Given the description of an element on the screen output the (x, y) to click on. 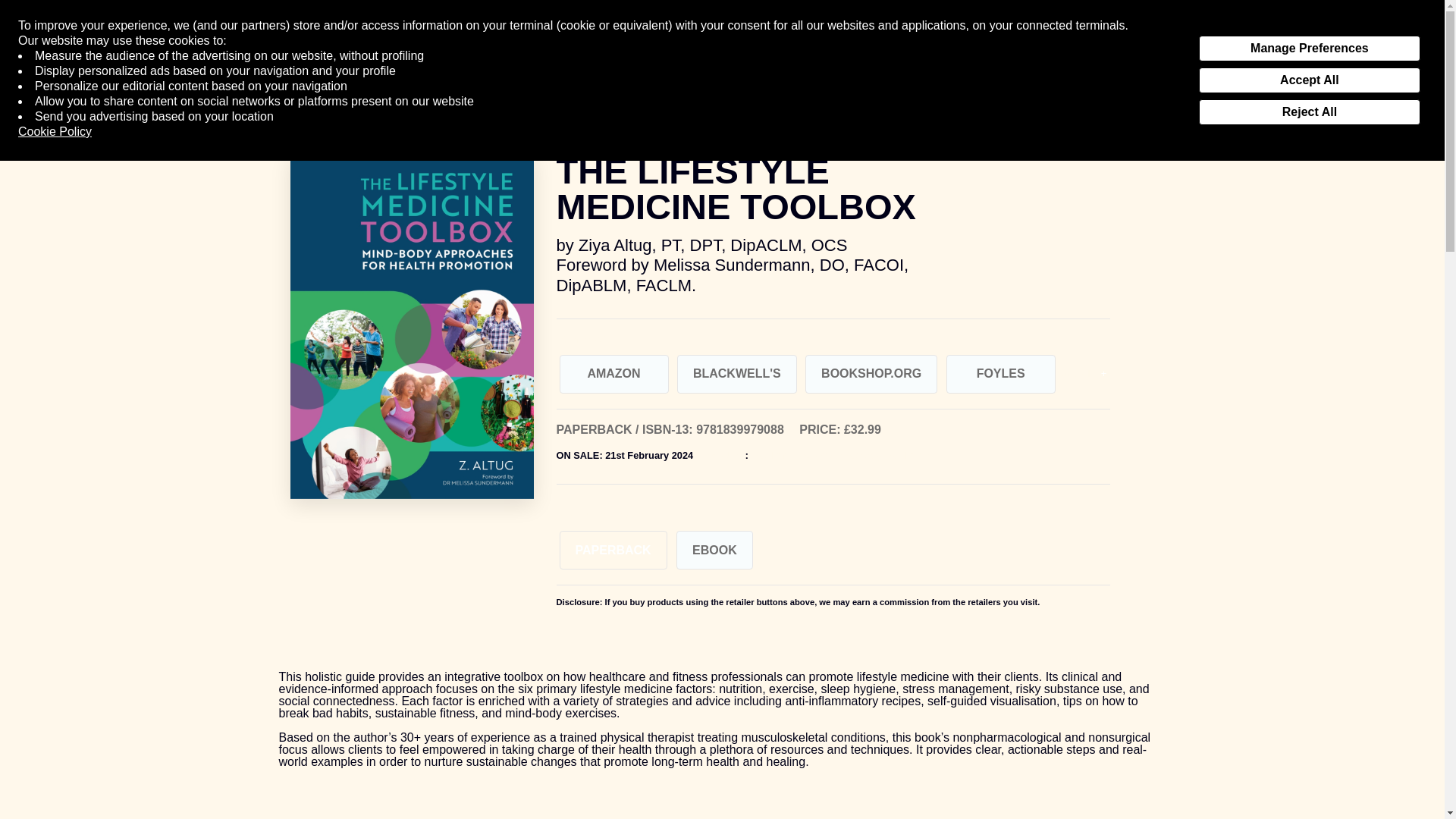
ebook (714, 549)
Accept All (1309, 80)
AMAZON (613, 373)
Reject All (1309, 112)
Manage Preferences (1309, 48)
ABOUT US (585, 36)
OPPORTUNITIES (712, 36)
Cookie Policy (54, 131)
NEWS (953, 36)
HOME (490, 36)
WRITING TIPS (848, 36)
